Given the description of an element on the screen output the (x, y) to click on. 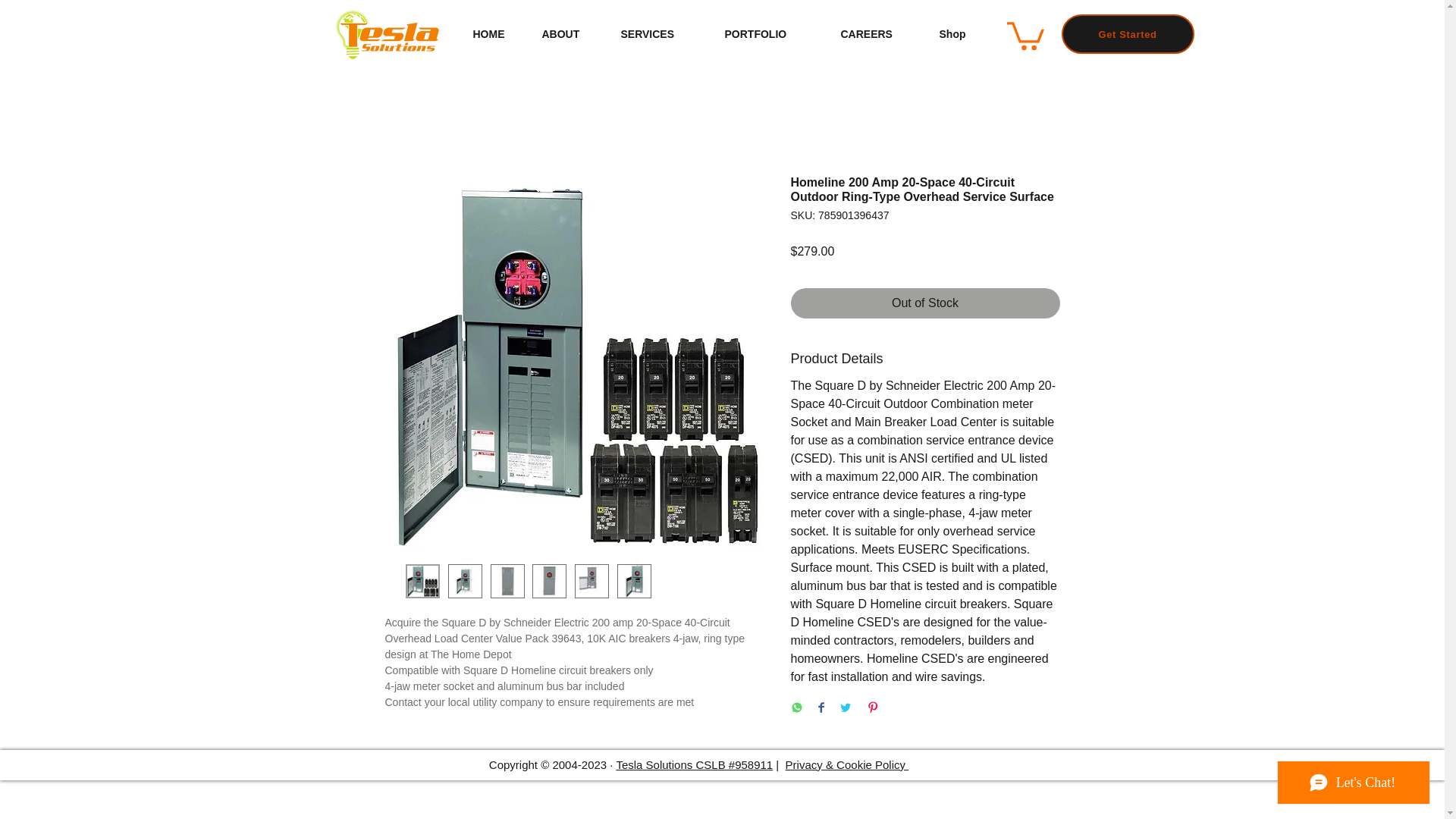
CAREERS (878, 34)
tesla-logo.png (385, 33)
Shop (961, 34)
HOME (495, 34)
PORTFOLIO (770, 34)
Out of Stock (924, 303)
SERVICES (661, 34)
Get Started (1127, 34)
ABOUT (570, 34)
